Given the description of an element on the screen output the (x, y) to click on. 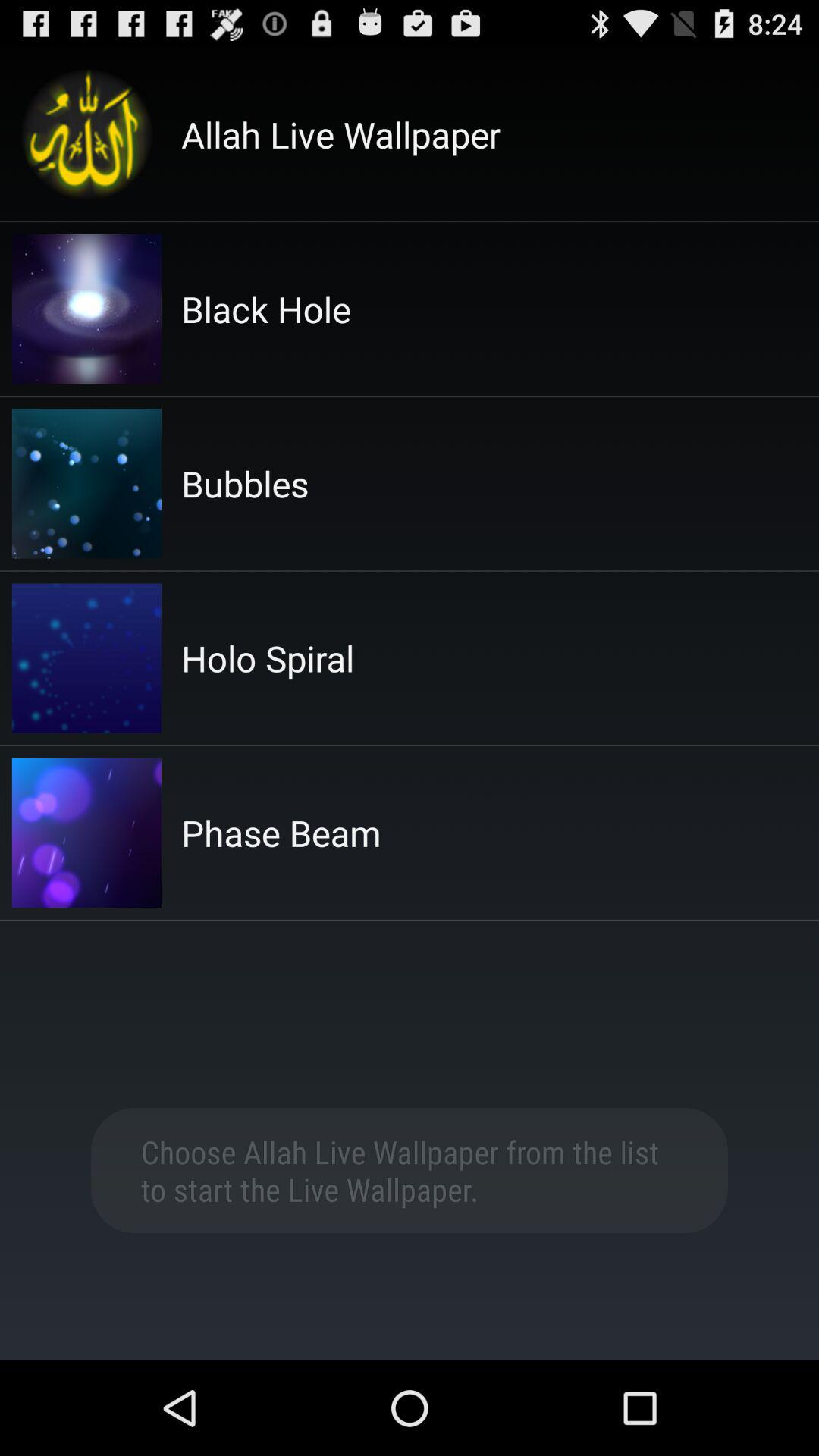
turn off the holo spiral app (267, 658)
